Given the description of an element on the screen output the (x, y) to click on. 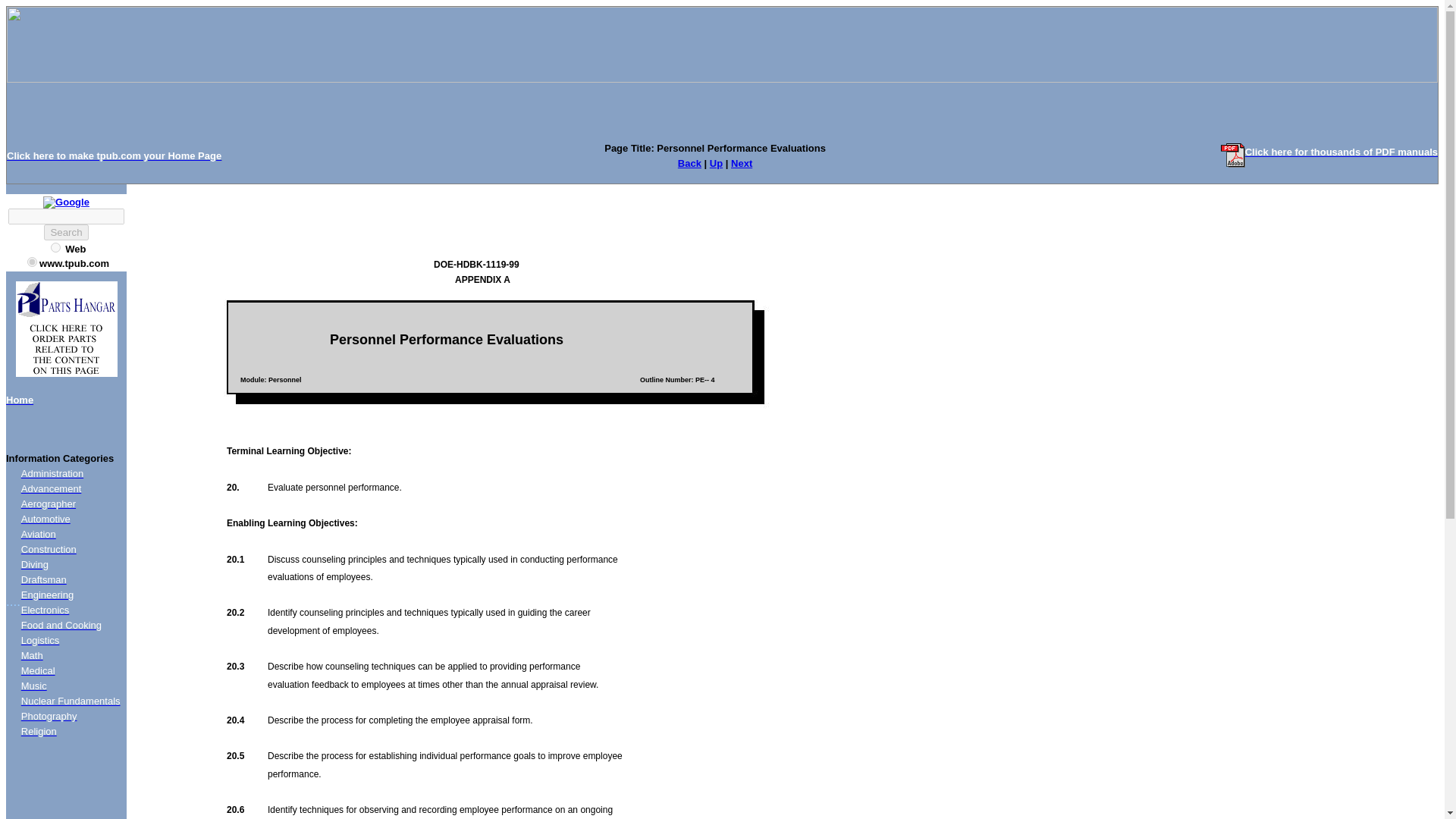
Search (65, 232)
Click here to make tpub.com your Home Page (114, 155)
Religion (38, 731)
Next (741, 163)
Medical (38, 670)
Diving (34, 564)
Nuclear Fundamentals (70, 700)
Back (689, 163)
Music (33, 685)
Photography (49, 715)
